Given the description of an element on the screen output the (x, y) to click on. 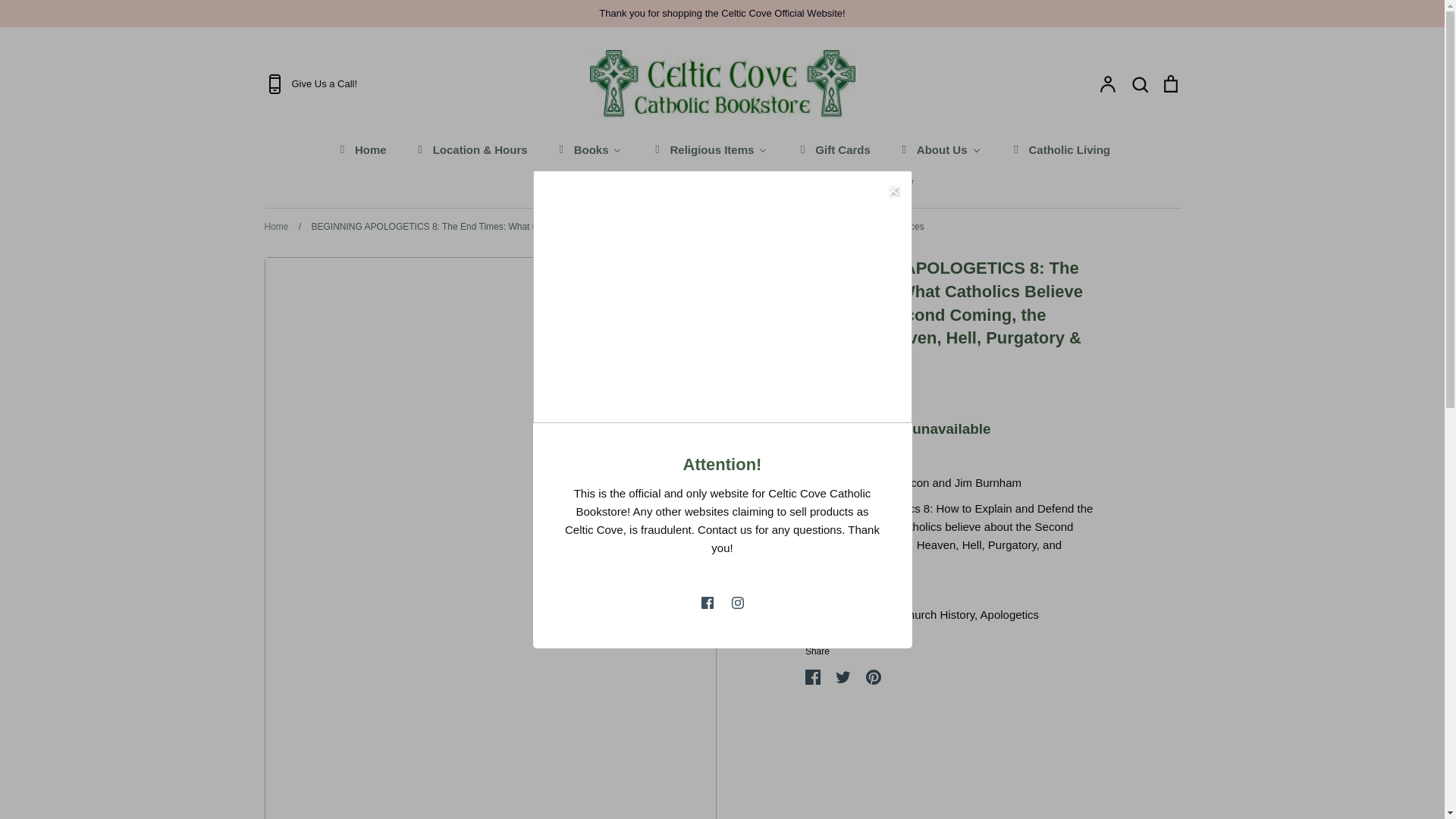
Books (588, 149)
Search (1139, 84)
Cart (1169, 84)
Account (1107, 84)
Give Us a Call! (414, 84)
Home (360, 149)
